Given the description of an element on the screen output the (x, y) to click on. 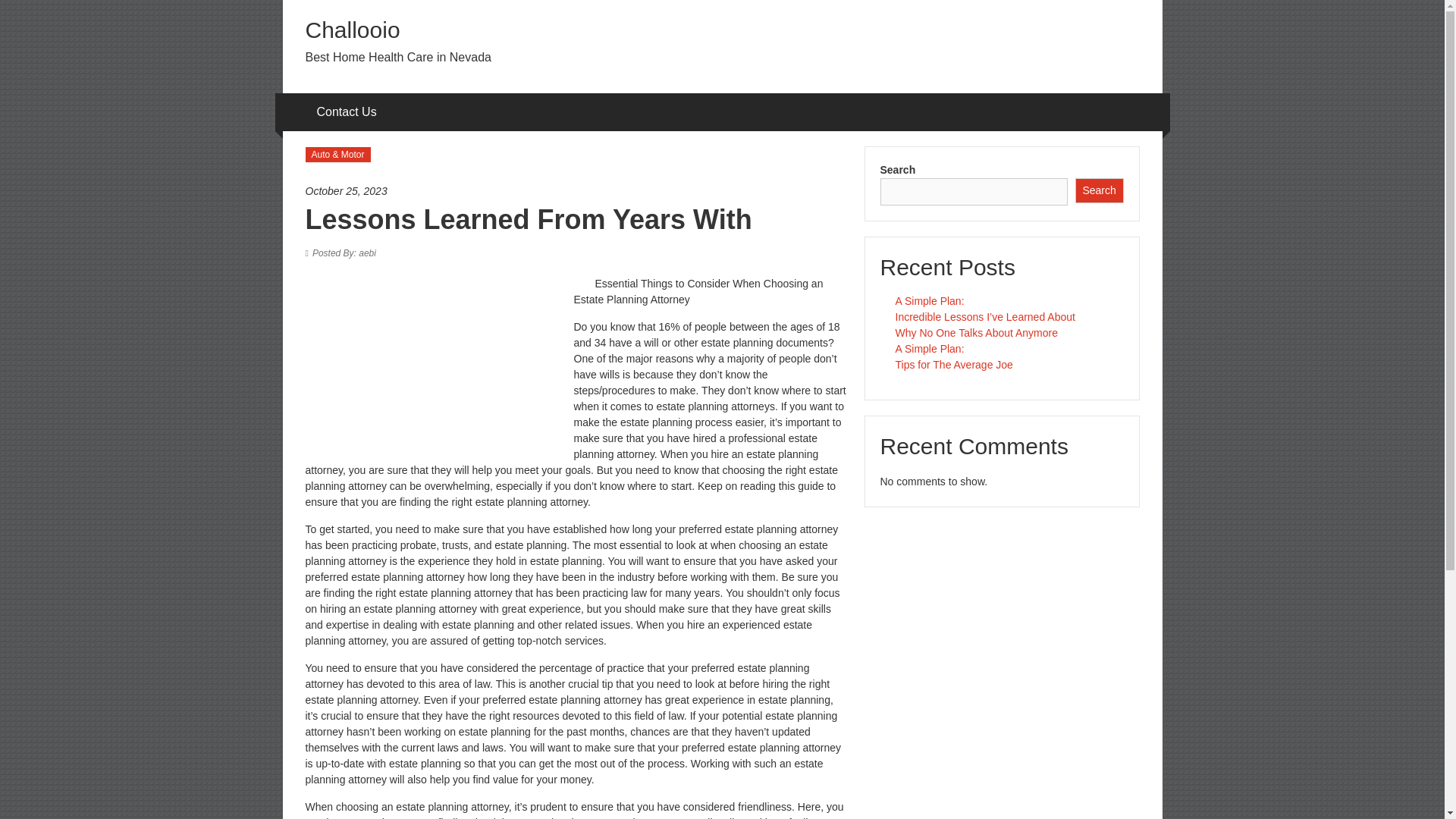
Challooio (351, 29)
aebi (344, 253)
A Simple Plan: (929, 300)
Why No One Talks About Anymore (976, 332)
Search (1099, 190)
5:49 am (575, 191)
Contact Us (347, 112)
Posted By: aebi (344, 253)
Tips for The Average Joe (953, 364)
October 25, 2023 (575, 191)
Challooio (351, 29)
A Simple Plan: (929, 348)
